Given the description of an element on the screen output the (x, y) to click on. 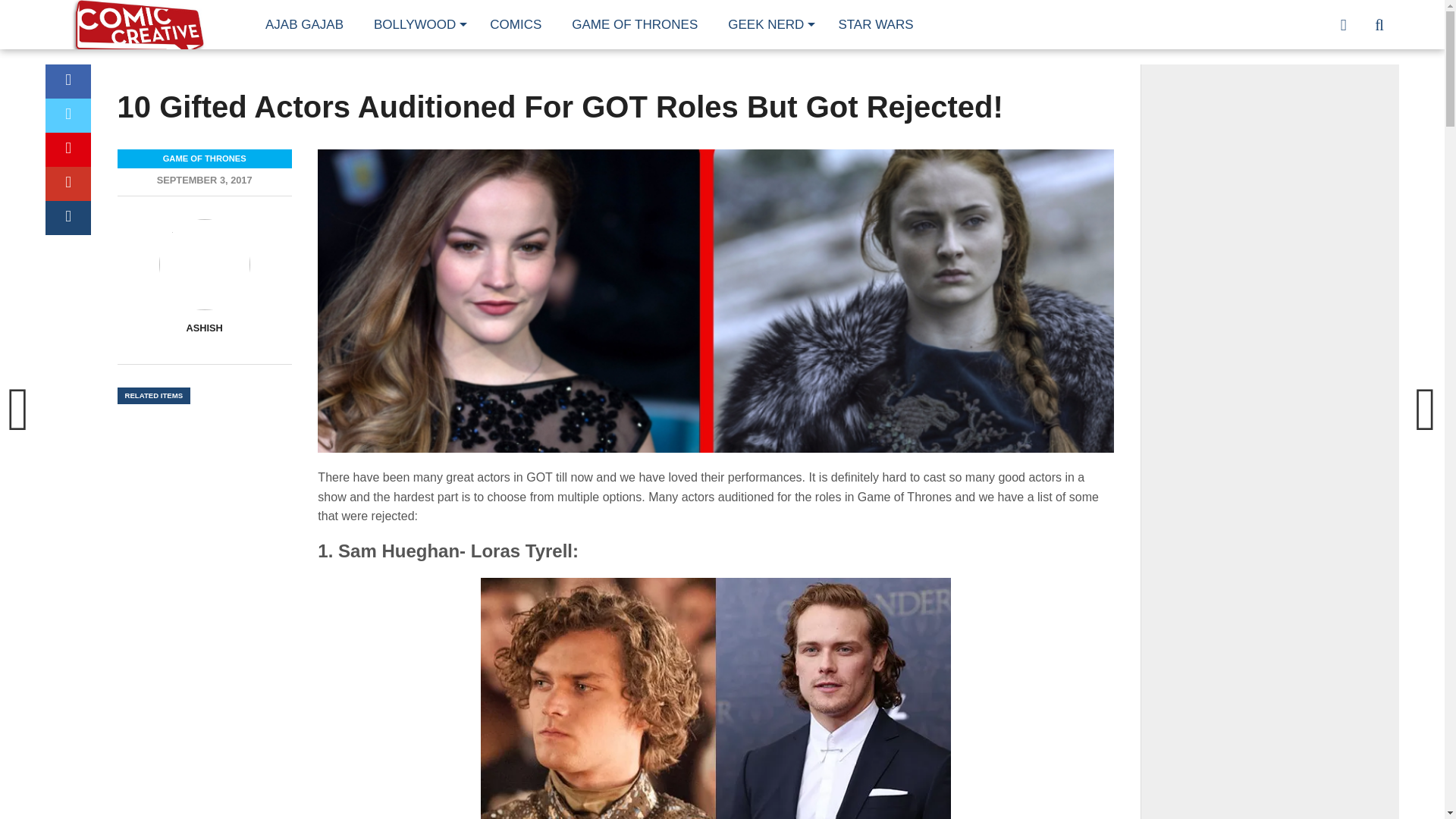
Share on Facebook (67, 81)
Pin This Post (67, 149)
ASHISH (204, 327)
STAR WARS (875, 24)
AJAB GAJAB (304, 24)
GEEK NERD (767, 24)
GAME OF THRONES (634, 24)
COMICS (515, 24)
Tweet This Post (67, 115)
BOLLYWOOD (416, 24)
